Given the description of an element on the screen output the (x, y) to click on. 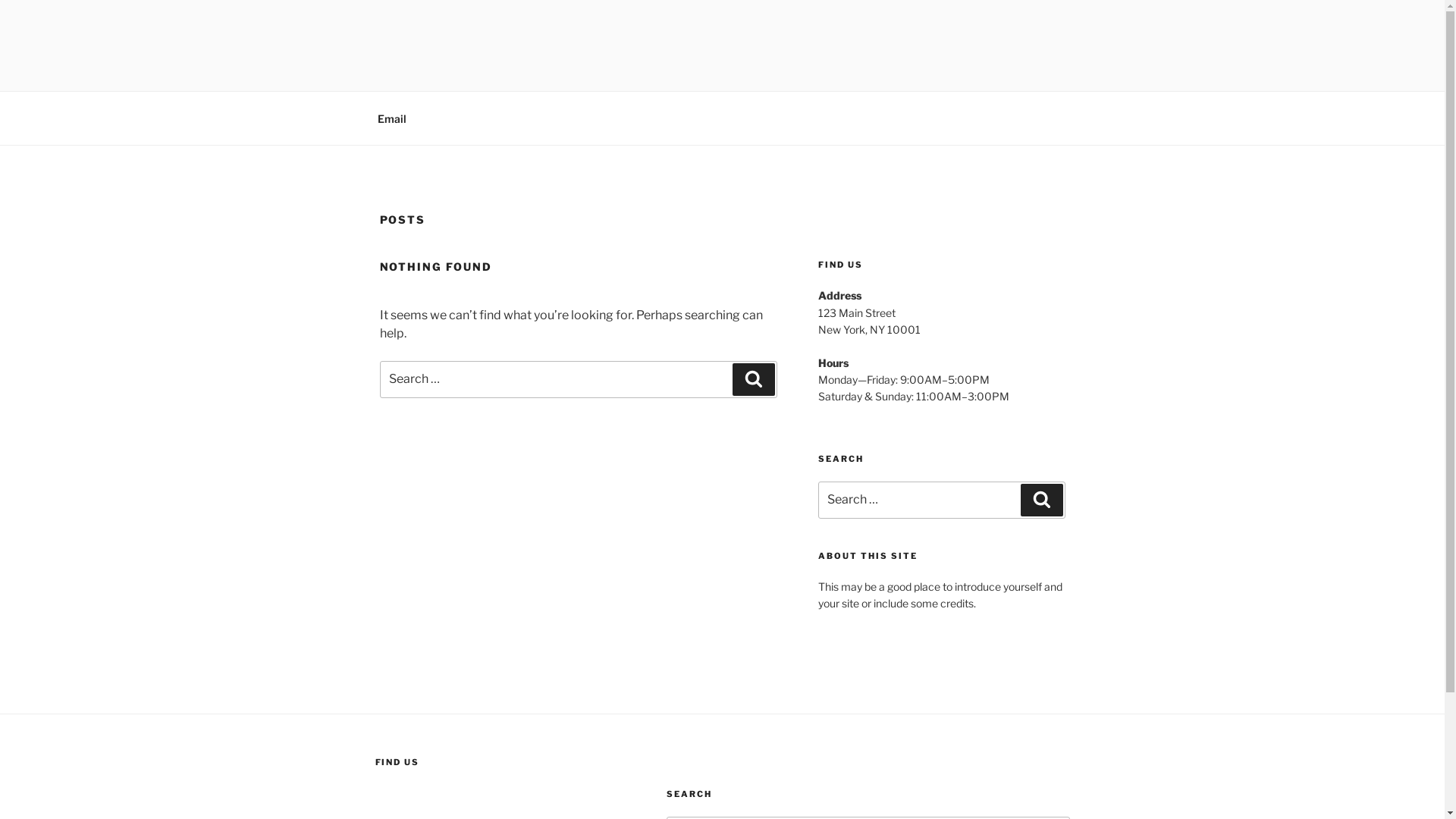
Search Element type: text (753, 379)
Email Element type: text (391, 118)
Search Element type: text (1041, 499)
